Given the description of an element on the screen output the (x, y) to click on. 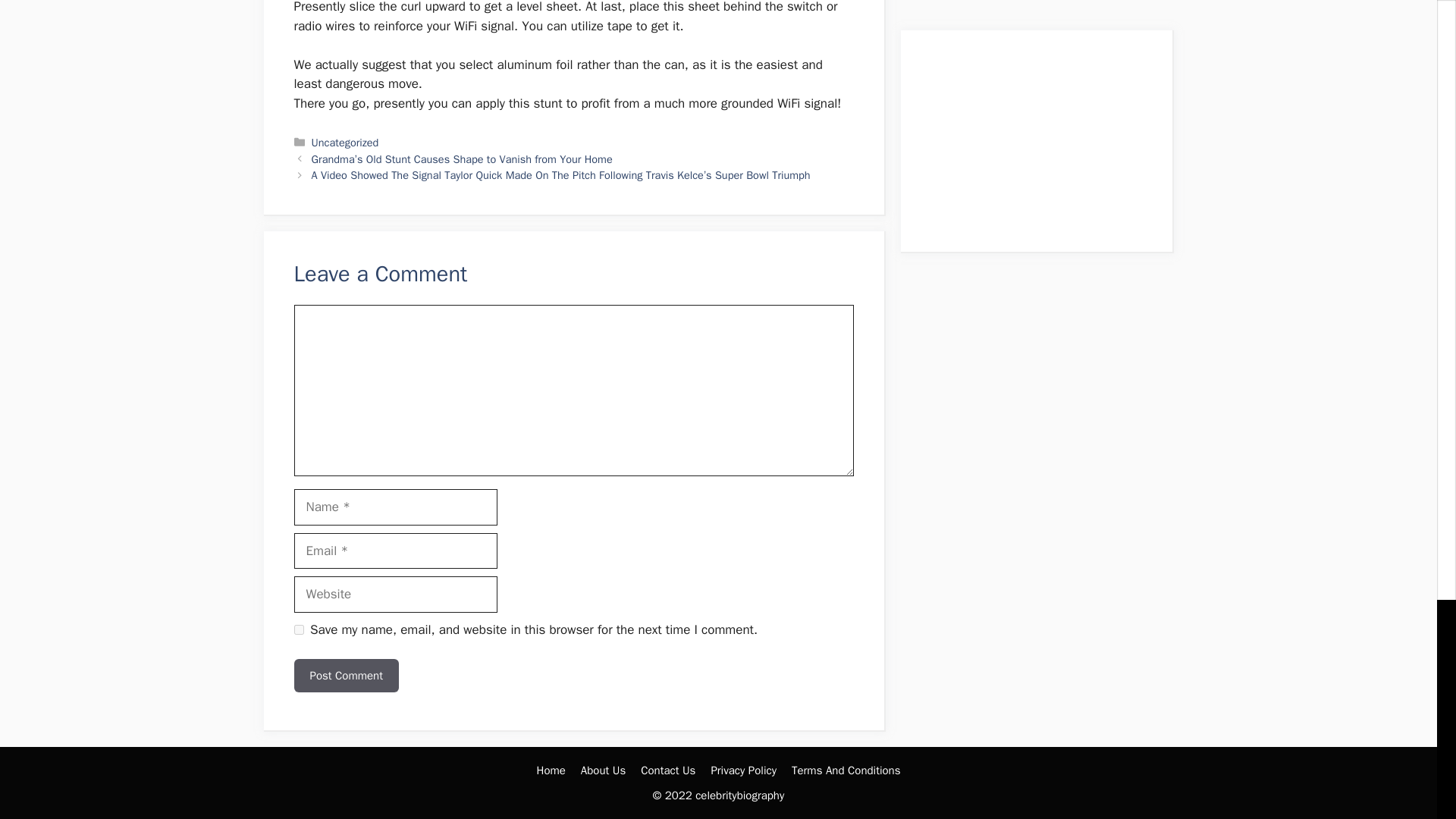
yes (299, 629)
Terms And Conditions (846, 770)
Post Comment (346, 675)
Contact Us (667, 770)
celebritybiography (739, 795)
Privacy Policy (743, 770)
About Us (603, 770)
Uncategorized (344, 142)
Home (551, 770)
Post Comment (346, 675)
